Given the description of an element on the screen output the (x, y) to click on. 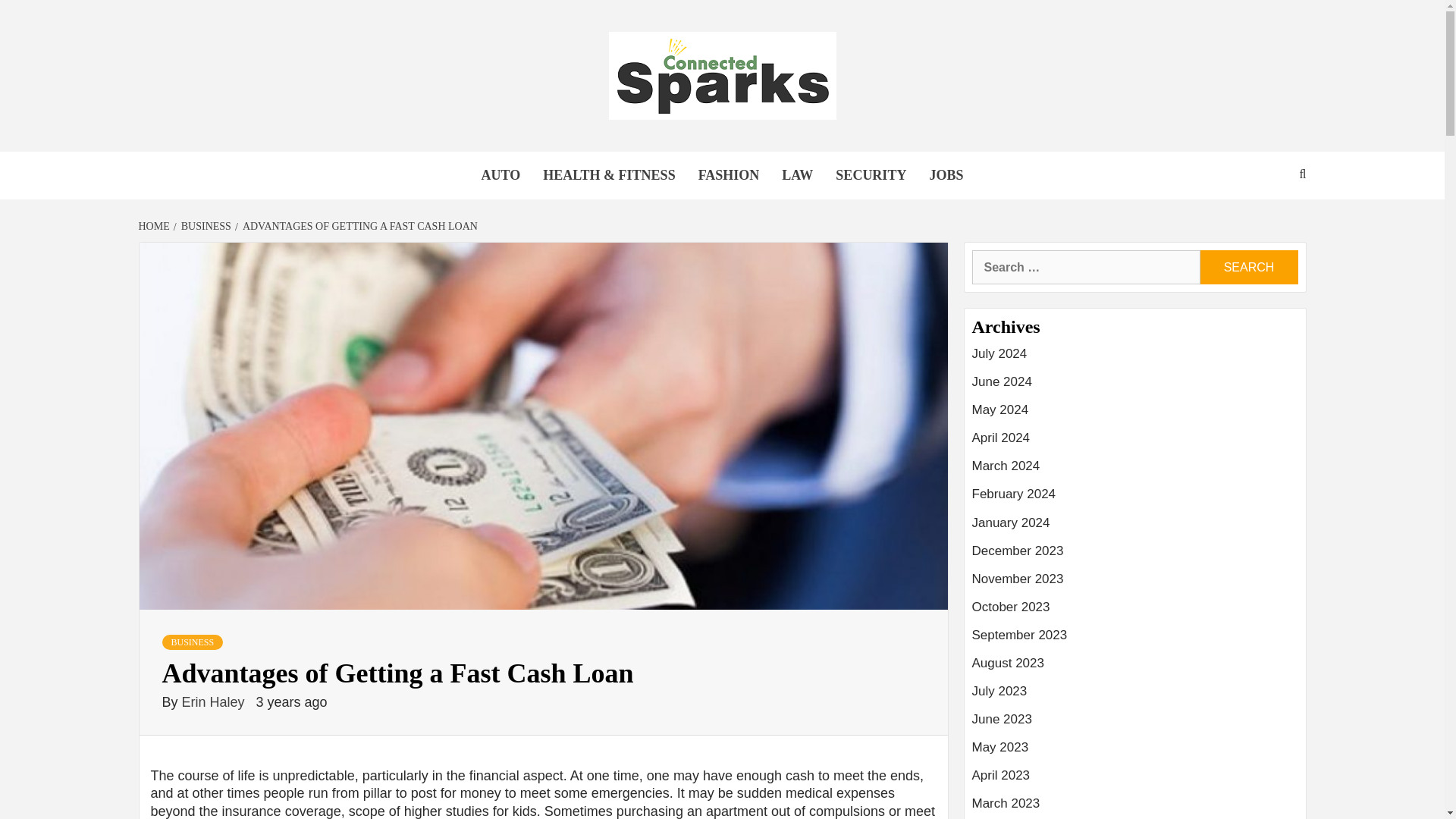
May 2023 (1135, 753)
HOME (155, 225)
BUSINESS (192, 642)
February 2024 (1135, 500)
April 2023 (1135, 781)
AUTO (501, 175)
CONNECTED SPARKS (540, 168)
January 2024 (1135, 528)
Erin Haley (215, 702)
July 2024 (1135, 359)
FASHION (729, 175)
November 2023 (1135, 584)
July 2023 (1135, 697)
May 2024 (1135, 415)
LAW (797, 175)
